Given the description of an element on the screen output the (x, y) to click on. 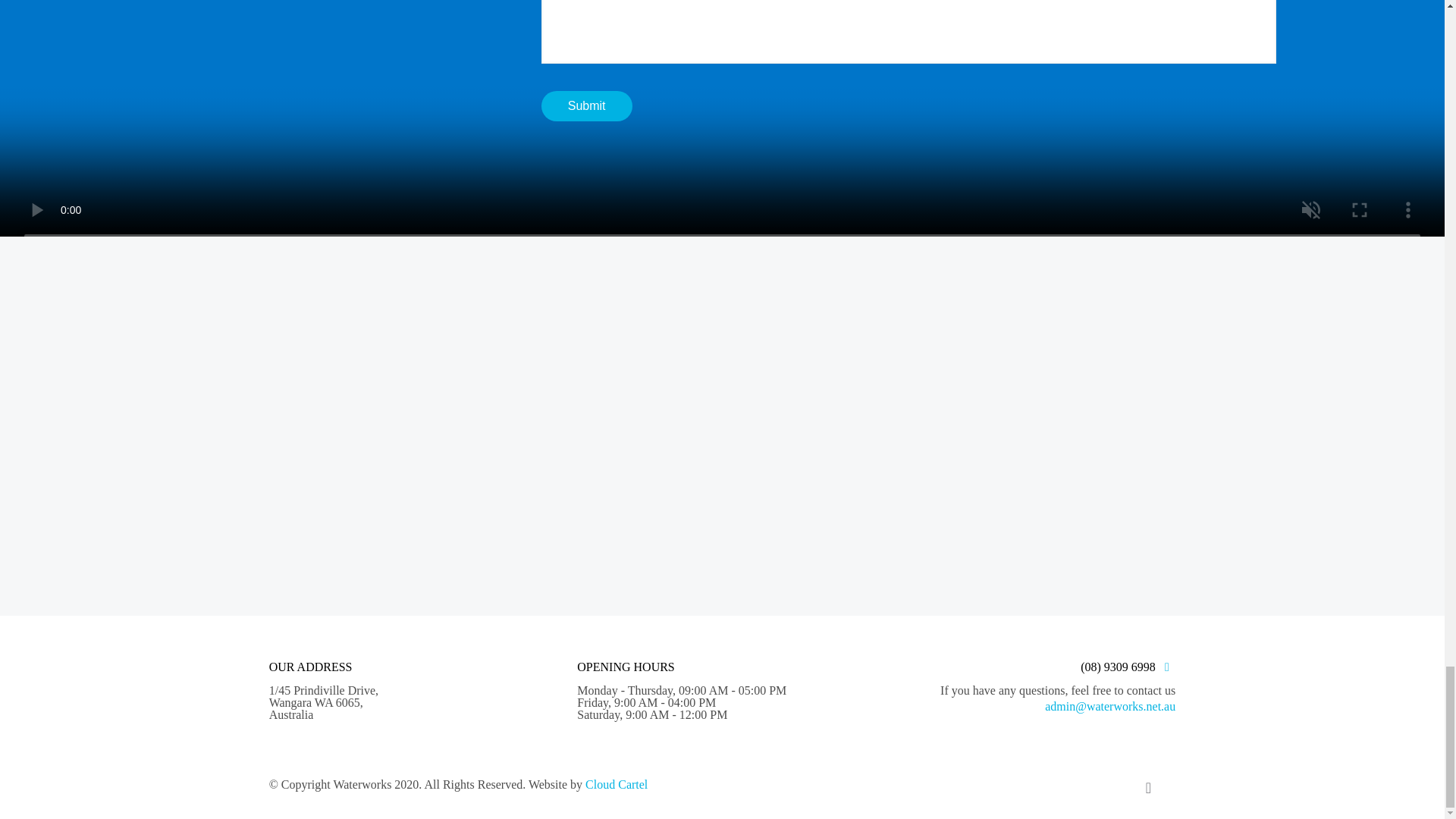
Facebook (1097, 784)
Submit (586, 105)
Submit (586, 105)
Cloud Cartel (616, 784)
